Given the description of an element on the screen output the (x, y) to click on. 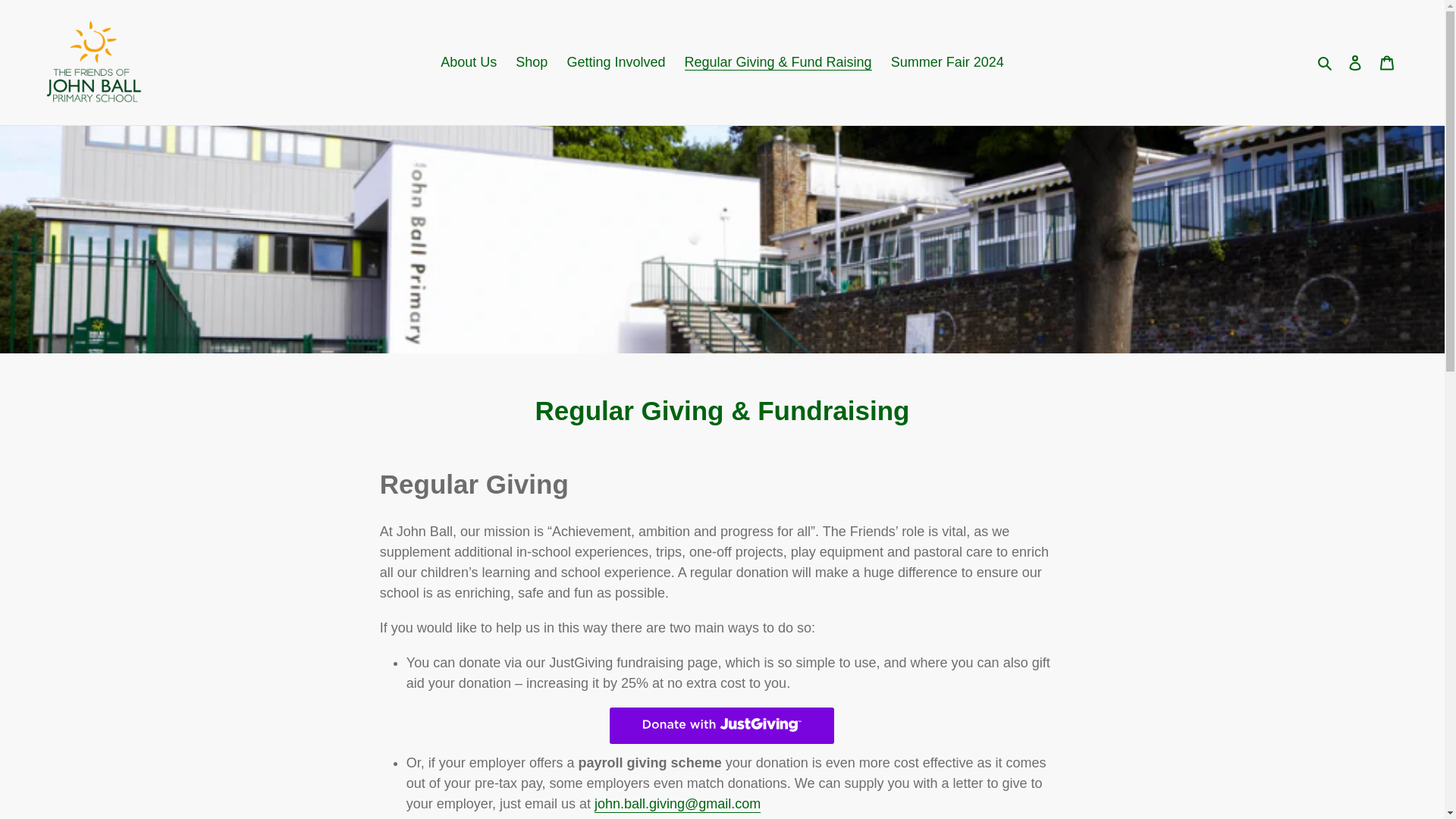
Summer Fair 2024 (947, 62)
Cart (1387, 62)
Log in (1355, 62)
Shop (531, 62)
About Us (467, 62)
Search (1326, 62)
Getting Involved (615, 62)
